Given the description of an element on the screen output the (x, y) to click on. 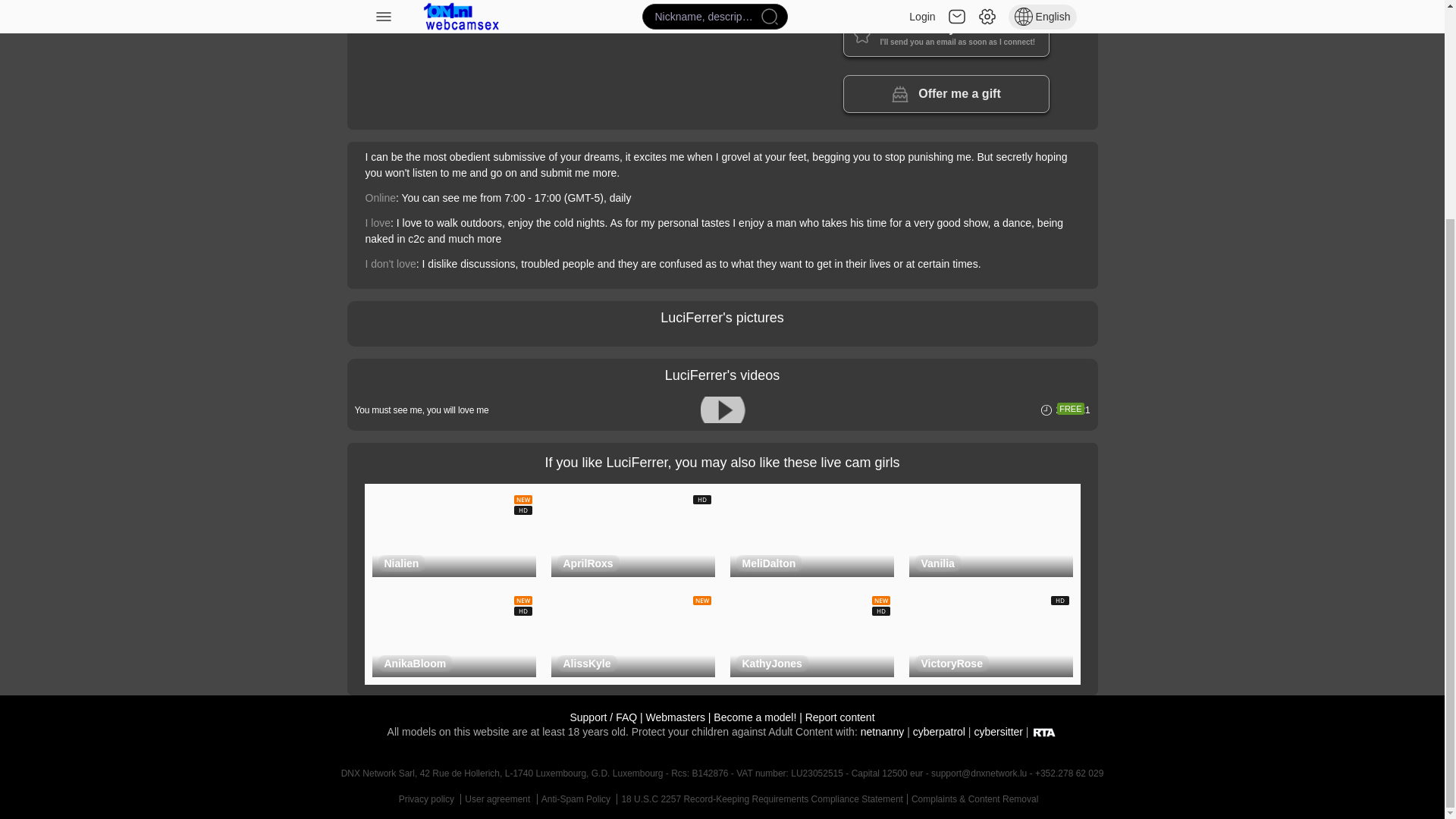
Nialien (401, 563)
AprilRoxs (587, 563)
Vanilia (936, 563)
MeliDalton (768, 563)
Offer me a gift (946, 94)
